Given the description of an element on the screen output the (x, y) to click on. 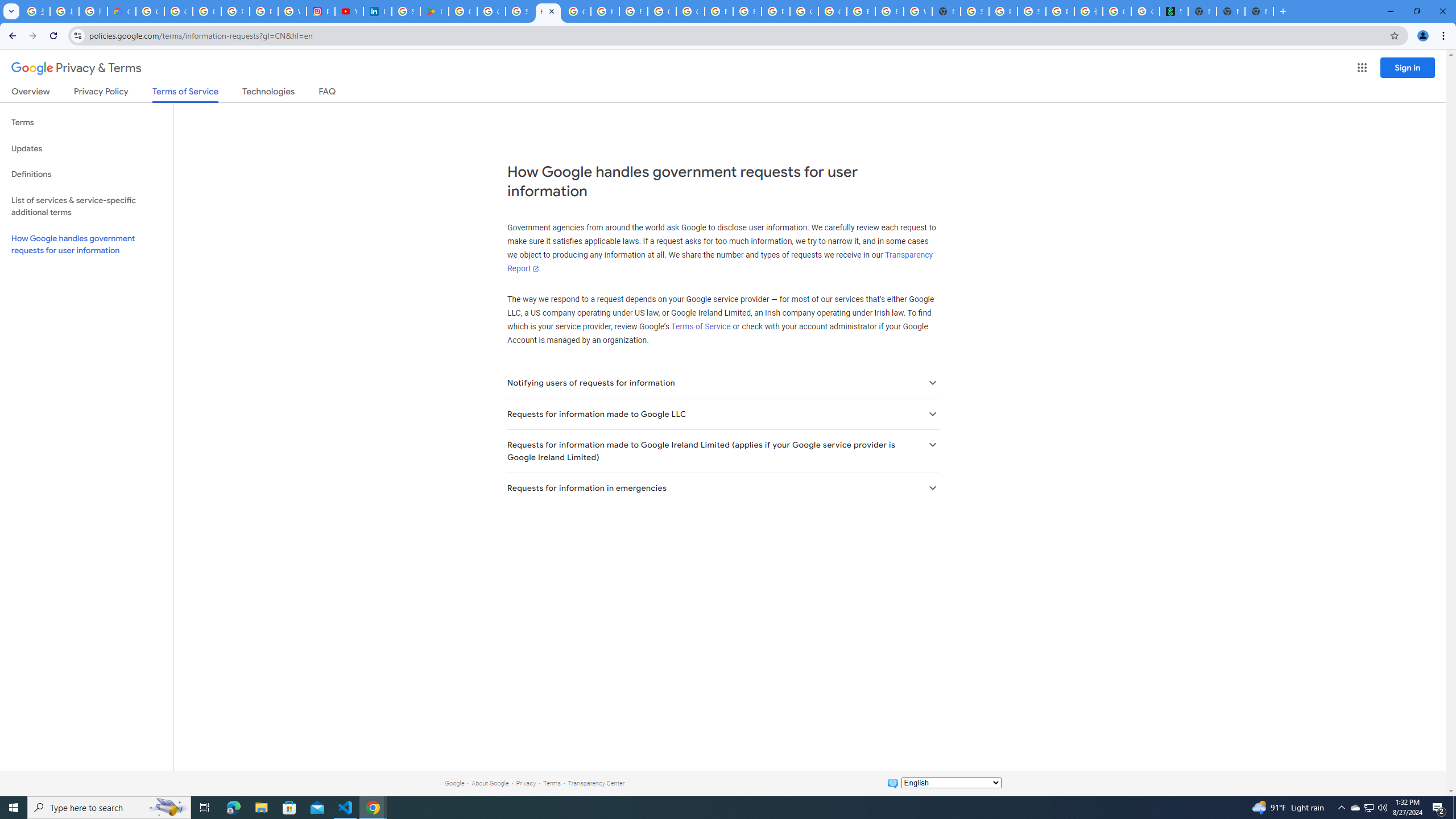
Google Cloud Platform (804, 11)
Sign in - Google Accounts (406, 11)
Privacy Help Center - Policies Help (263, 11)
Sign in - Google Accounts (519, 11)
